Given the description of an element on the screen output the (x, y) to click on. 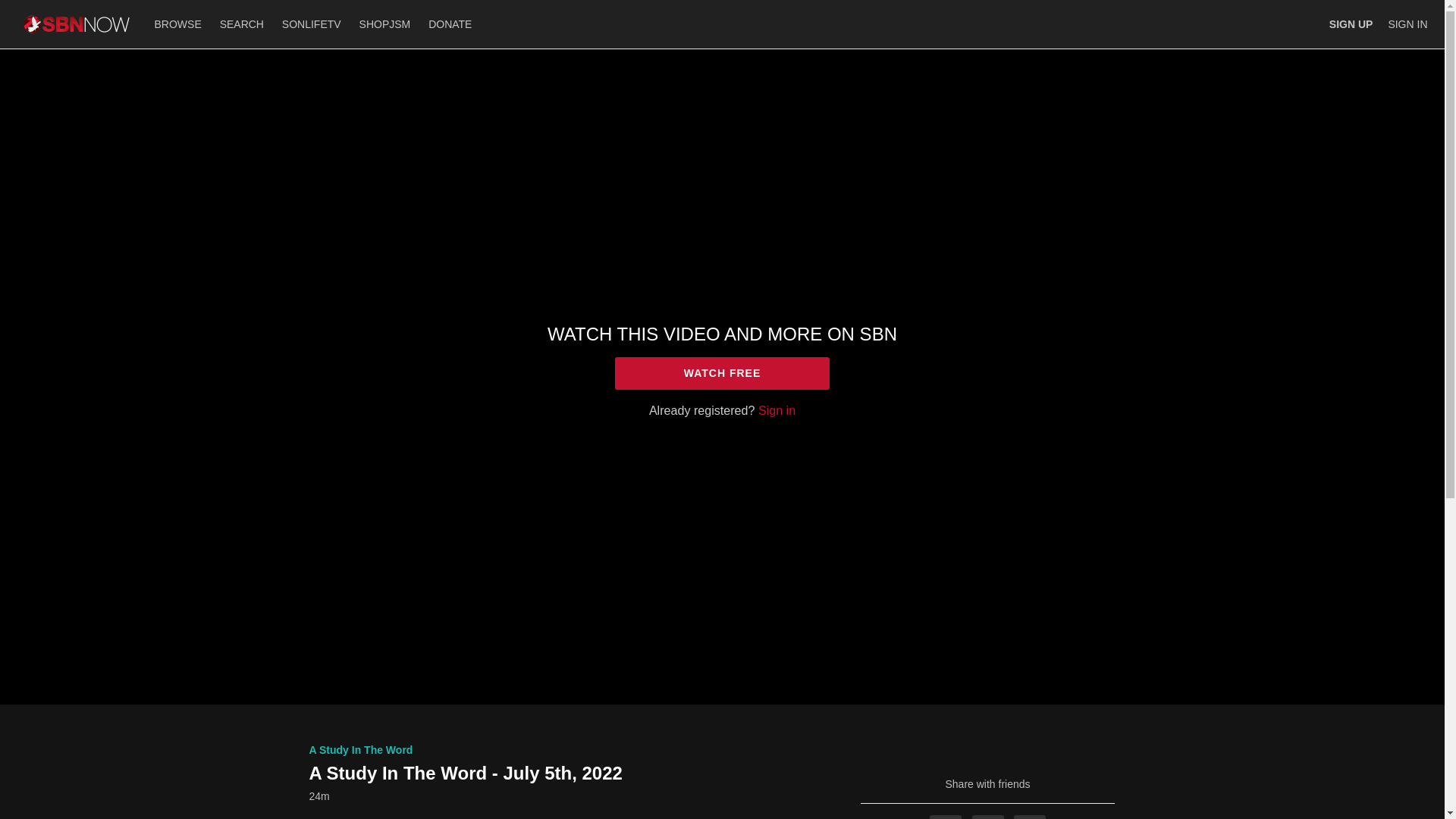
SIGN UP (1351, 24)
SHOPJSM (385, 24)
WATCH FREE (721, 373)
SONLIFETV (312, 24)
Facebook (945, 816)
Email (1029, 816)
A Study In The Word (360, 749)
SEARCH (243, 24)
Skip to main content (48, 7)
Sign in (776, 409)
DONATE (449, 24)
Twitter (988, 816)
BROWSE (179, 24)
SIGN IN (1406, 24)
